Given the description of an element on the screen output the (x, y) to click on. 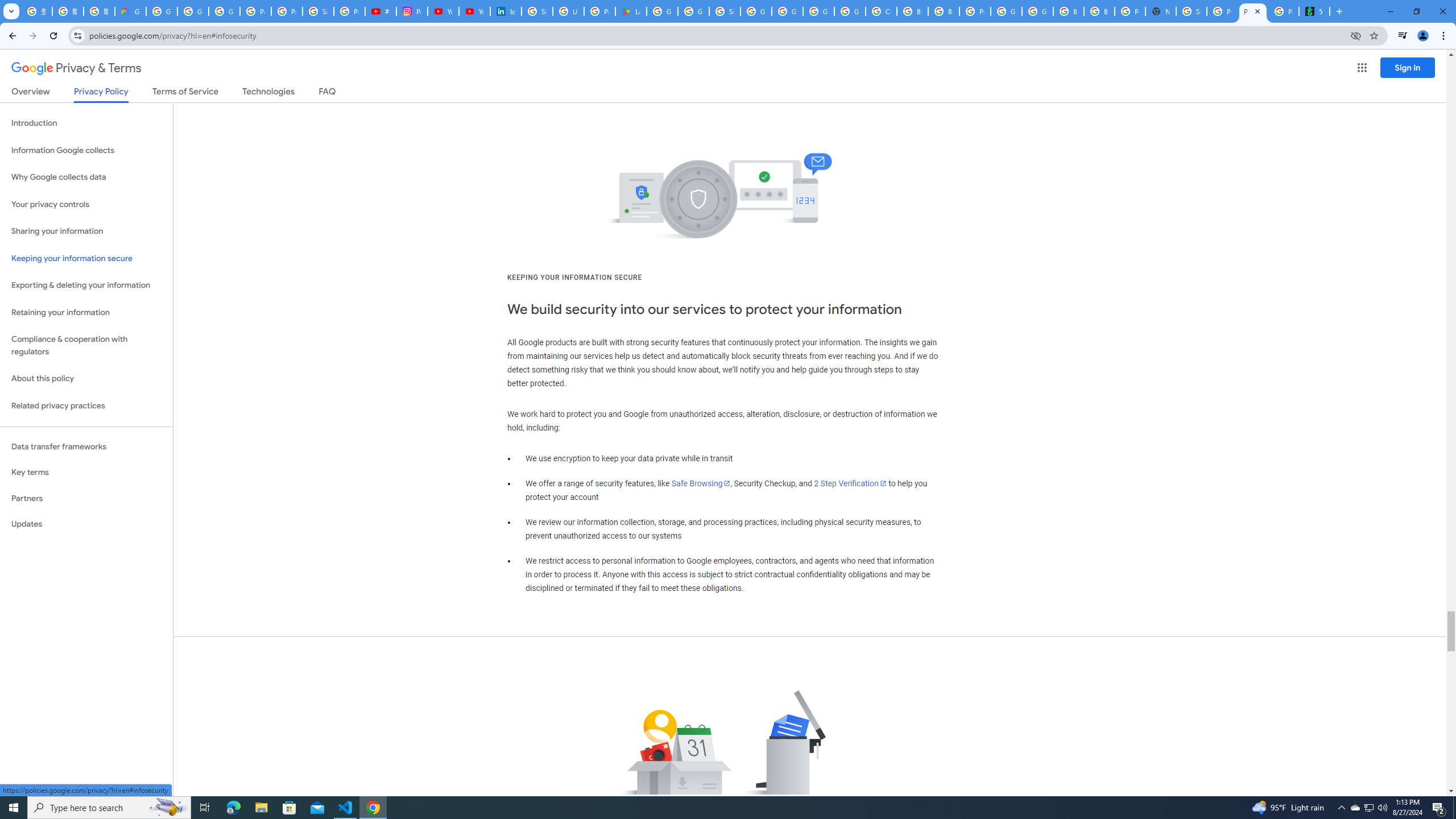
Safe Browsing (700, 483)
Sign in - Google Accounts (318, 11)
